Given the description of an element on the screen output the (x, y) to click on. 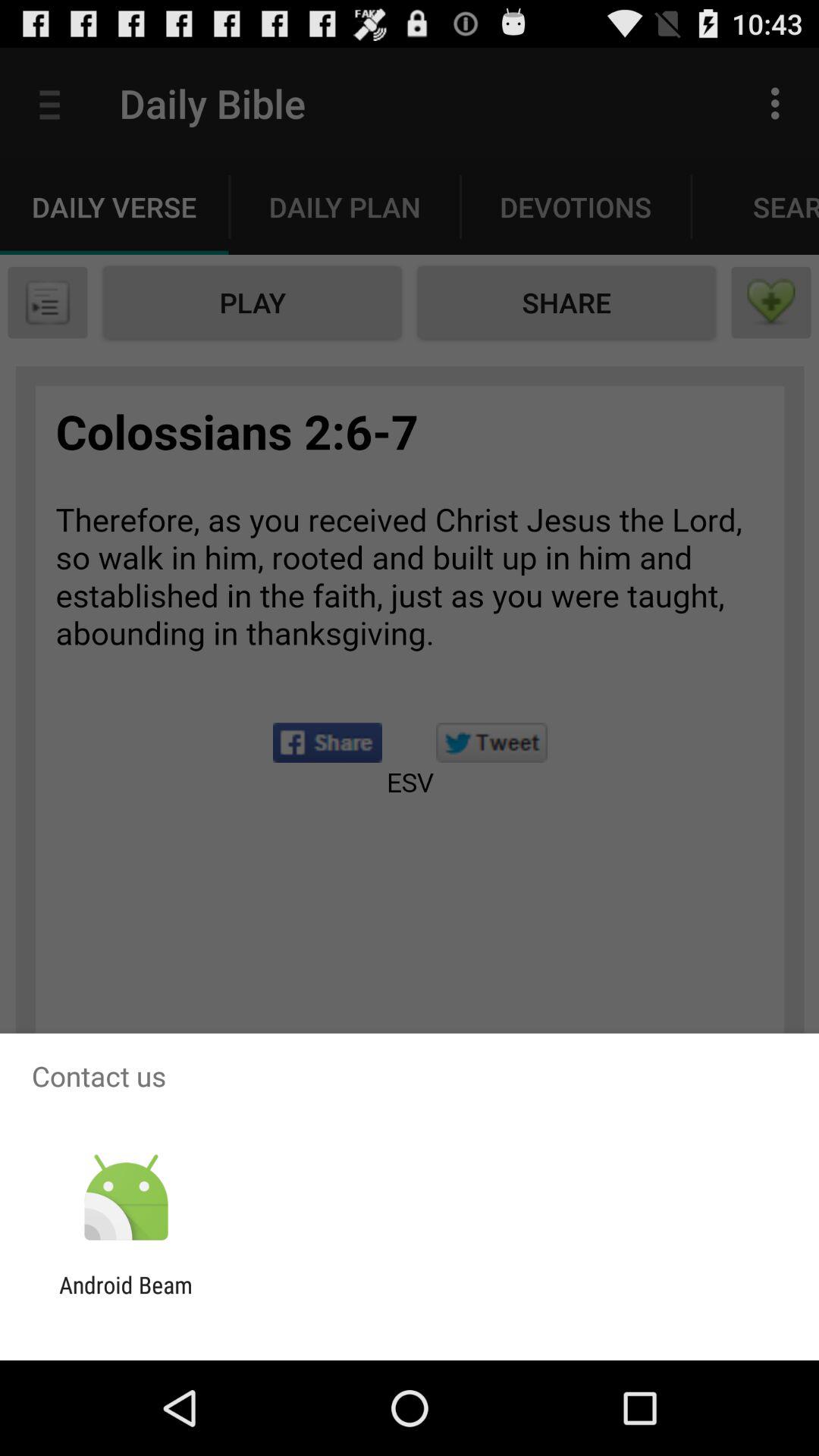
jump until the android beam item (125, 1298)
